Given the description of an element on the screen output the (x, y) to click on. 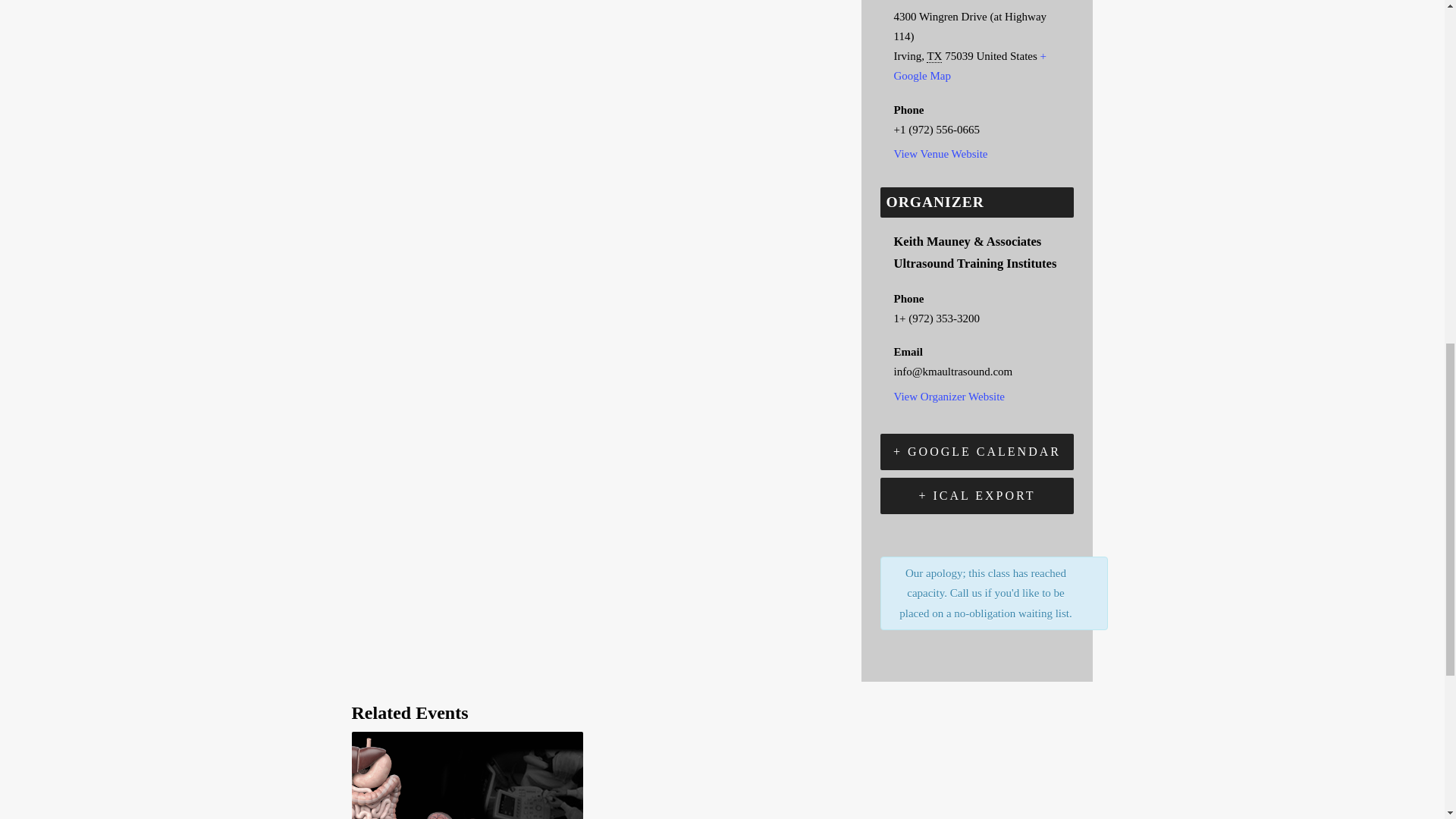
Facebook (368, 2)
View Organizer Website (948, 396)
Twitter (403, 2)
View Venue Website (940, 153)
Email (441, 2)
